Given the description of an element on the screen output the (x, y) to click on. 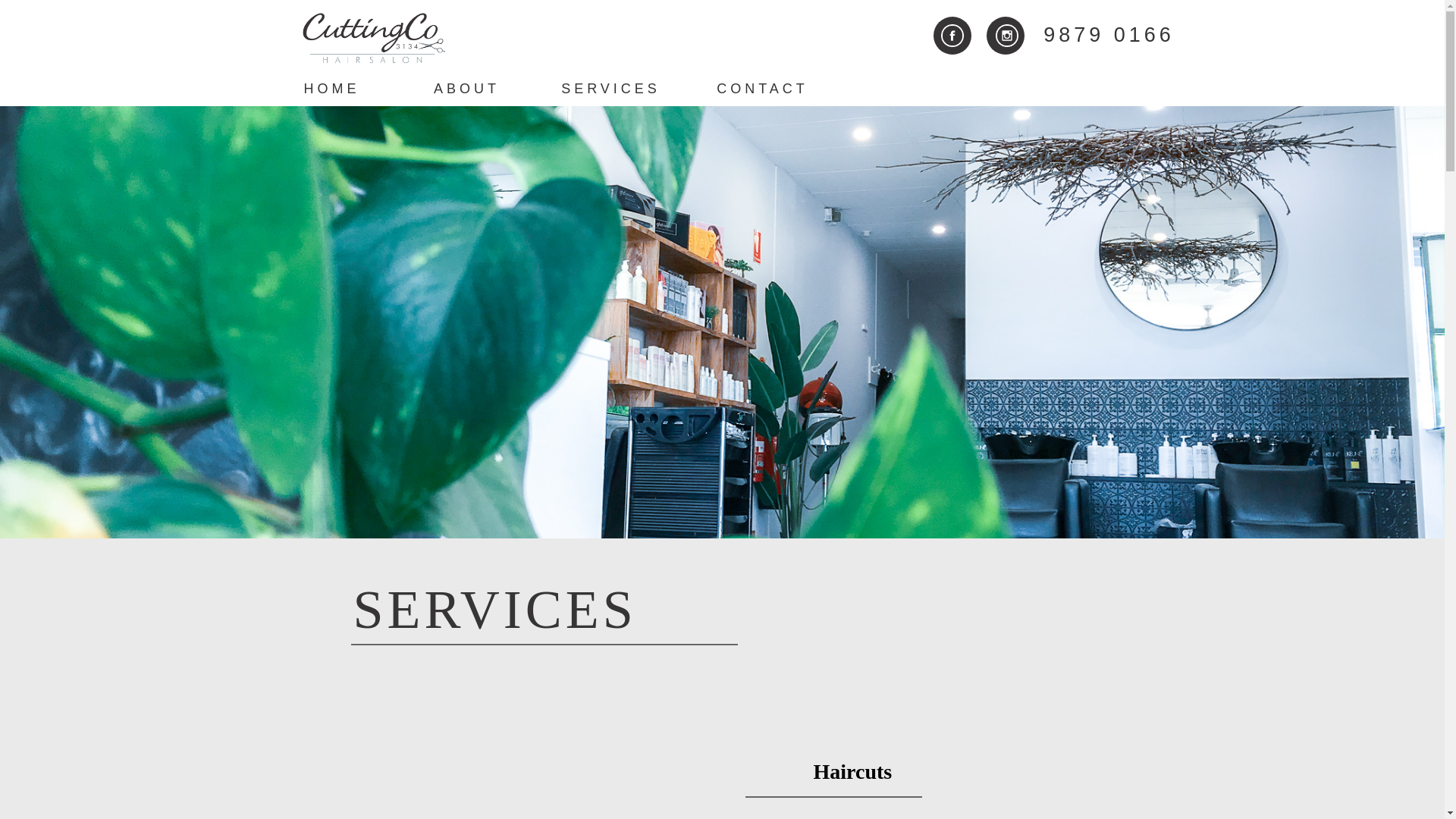
9879 0166 Element type: text (1108, 34)
HOME Element type: text (331, 88)
ABOUT Element type: text (466, 88)
CONTACT Element type: text (762, 88)
SERVICES Element type: text (610, 88)
